Given the description of an element on the screen output the (x, y) to click on. 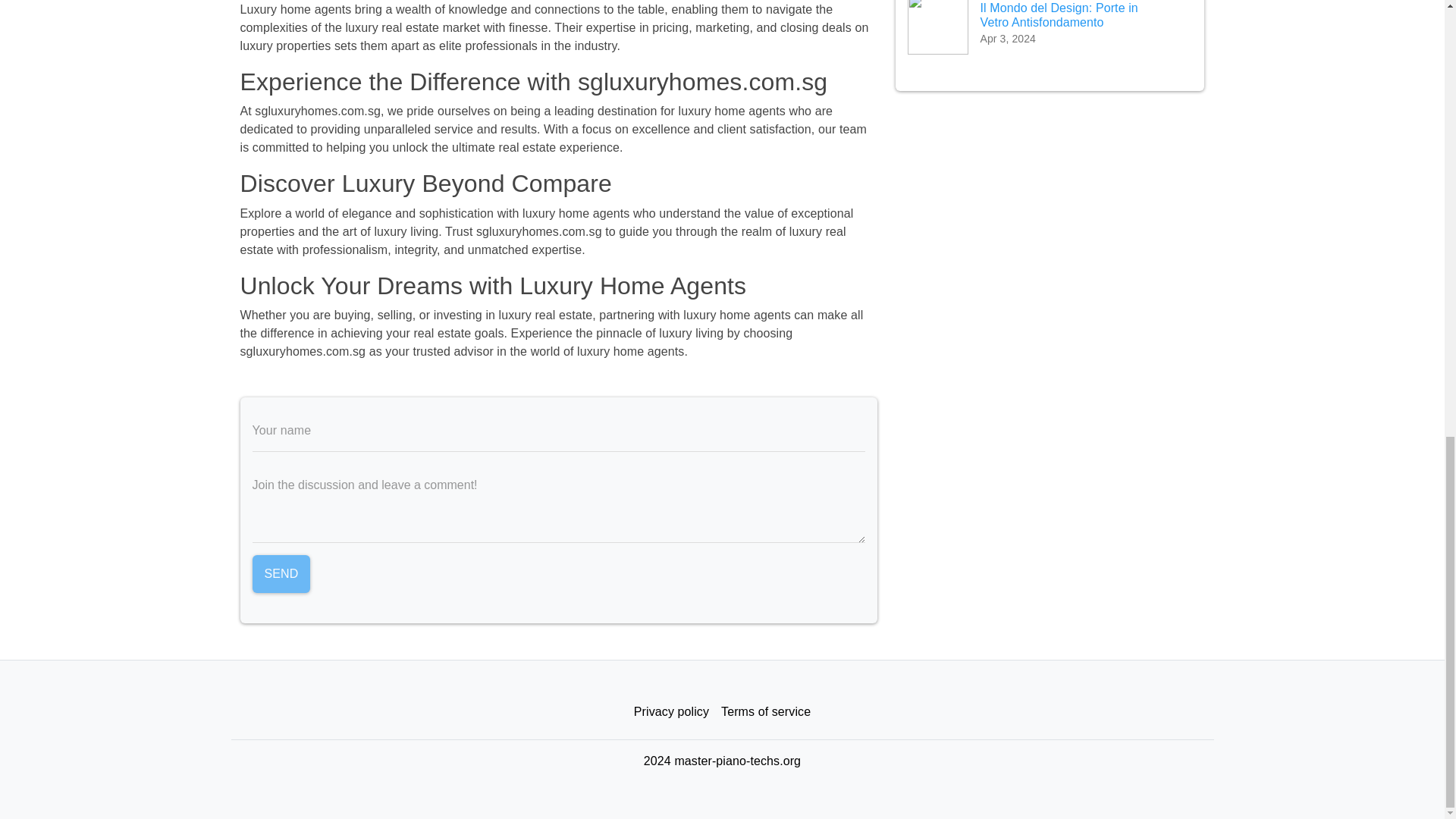
Send (280, 573)
Send (280, 573)
Privacy policy (670, 711)
Terms of service (765, 711)
